Given the description of an element on the screen output the (x, y) to click on. 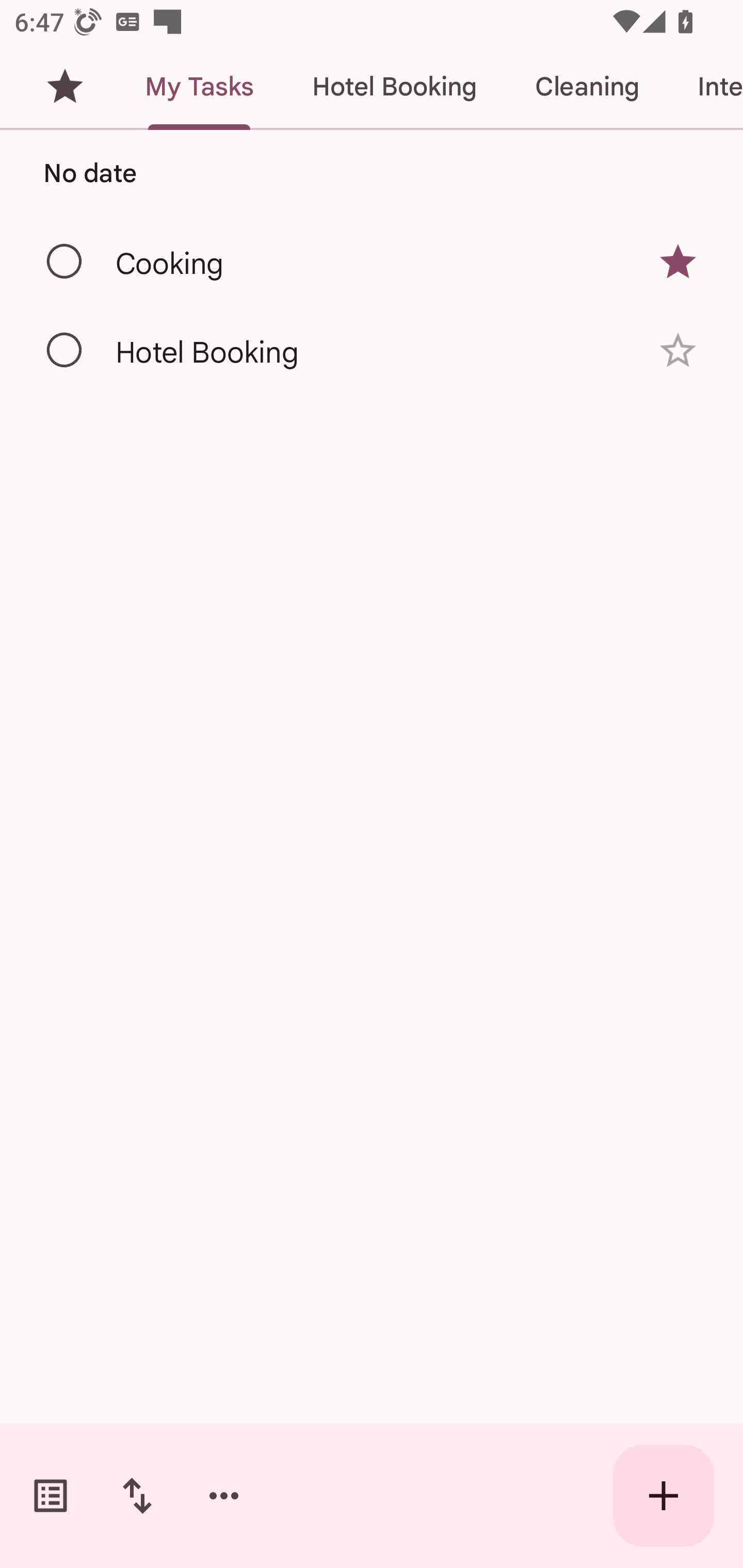
Starred (64, 86)
Hotel Booking (394, 86)
Cleaning (586, 86)
Remove star (677, 261)
Mark as complete (64, 261)
Add star (677, 350)
Mark as complete (64, 351)
Switch task lists (50, 1495)
Create new task (663, 1495)
Change sort order (136, 1495)
More options (223, 1495)
